Given the description of an element on the screen output the (x, y) to click on. 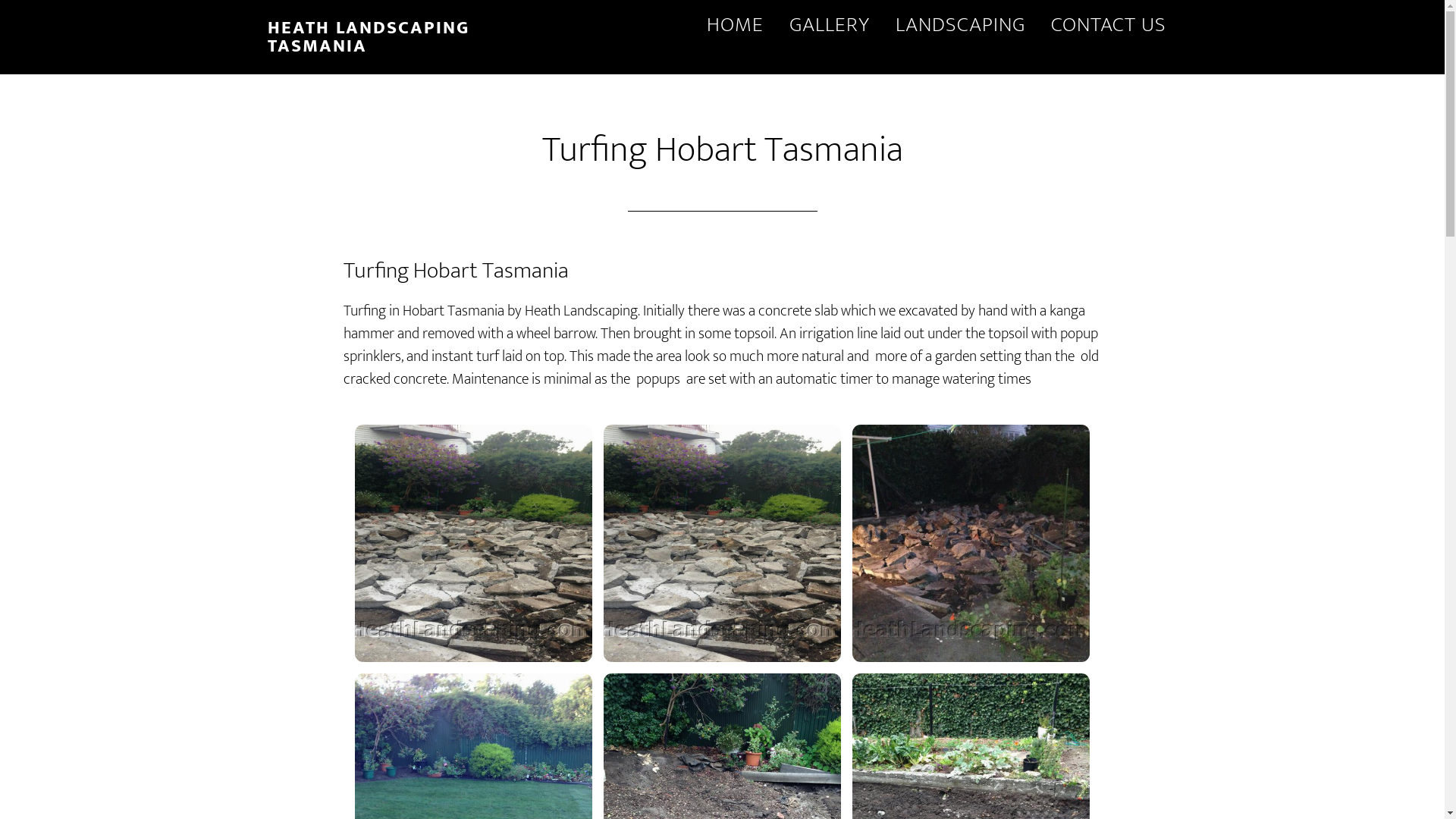
CONTACT US Element type: text (1107, 25)
GALLERY Element type: text (829, 25)
HOME Element type: text (734, 25)
Skip to main content Element type: text (0, 0)
LANDSCAPING Element type: text (960, 25)
HEATH LANDSCAPING TASMANIA Element type: text (367, 36)
